Given the description of an element on the screen output the (x, y) to click on. 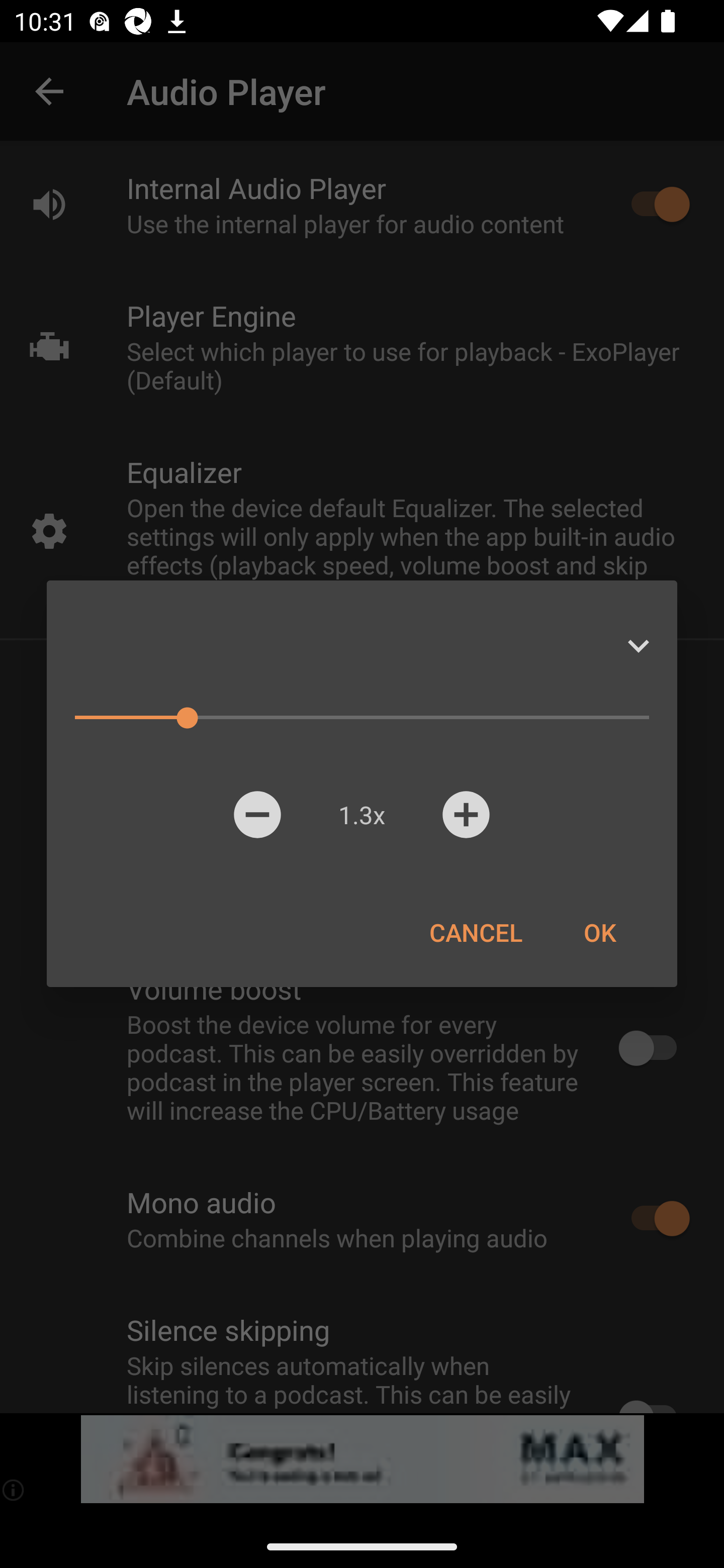
Expand (637, 645)
1.3x (361, 814)
CANCEL (475, 932)
OK (599, 932)
